Given the description of an element on the screen output the (x, y) to click on. 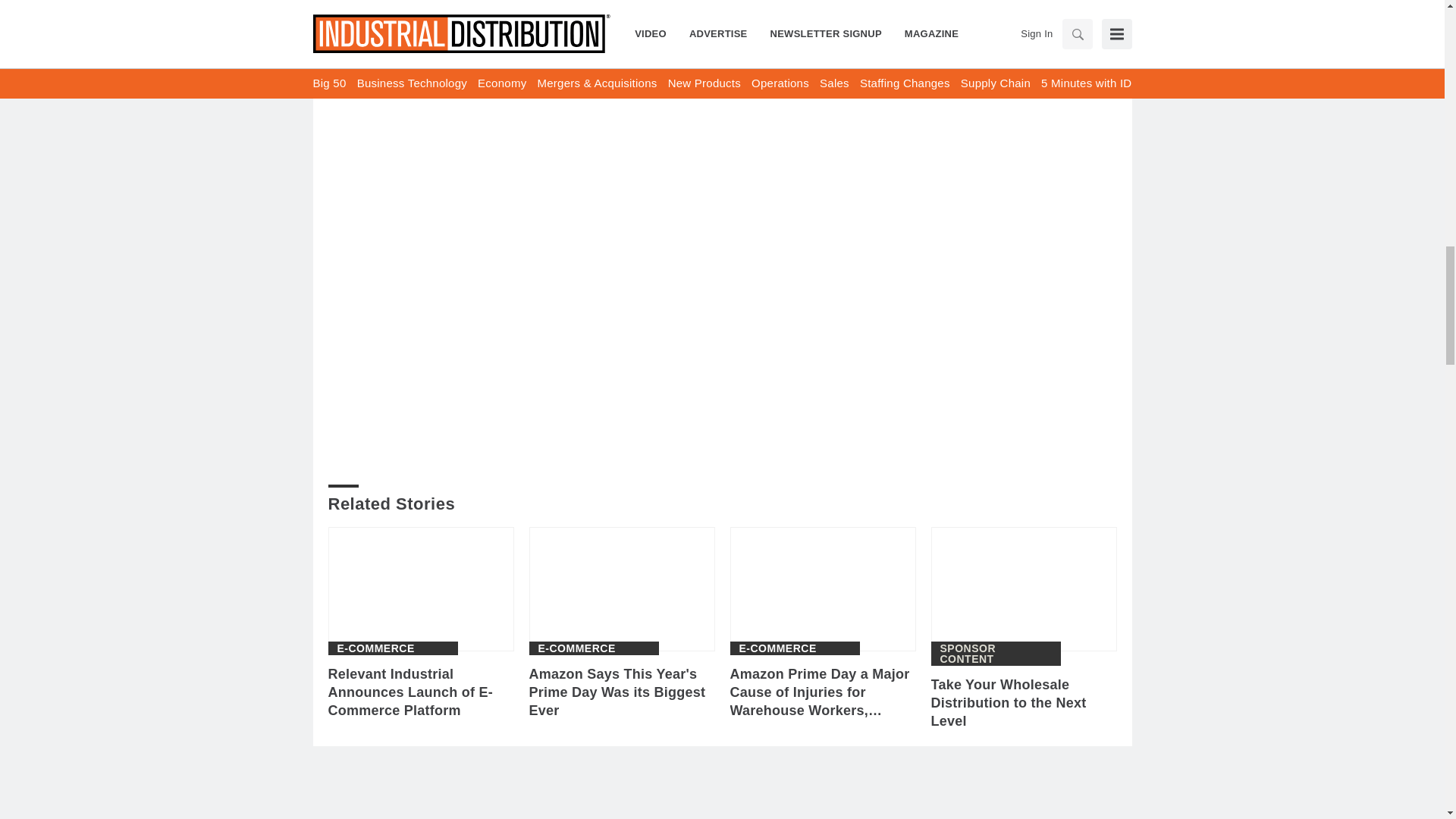
E-Commerce (576, 647)
Sponsor Content (996, 653)
E-Commerce (374, 647)
E-Commerce (776, 647)
